Given the description of an element on the screen output the (x, y) to click on. 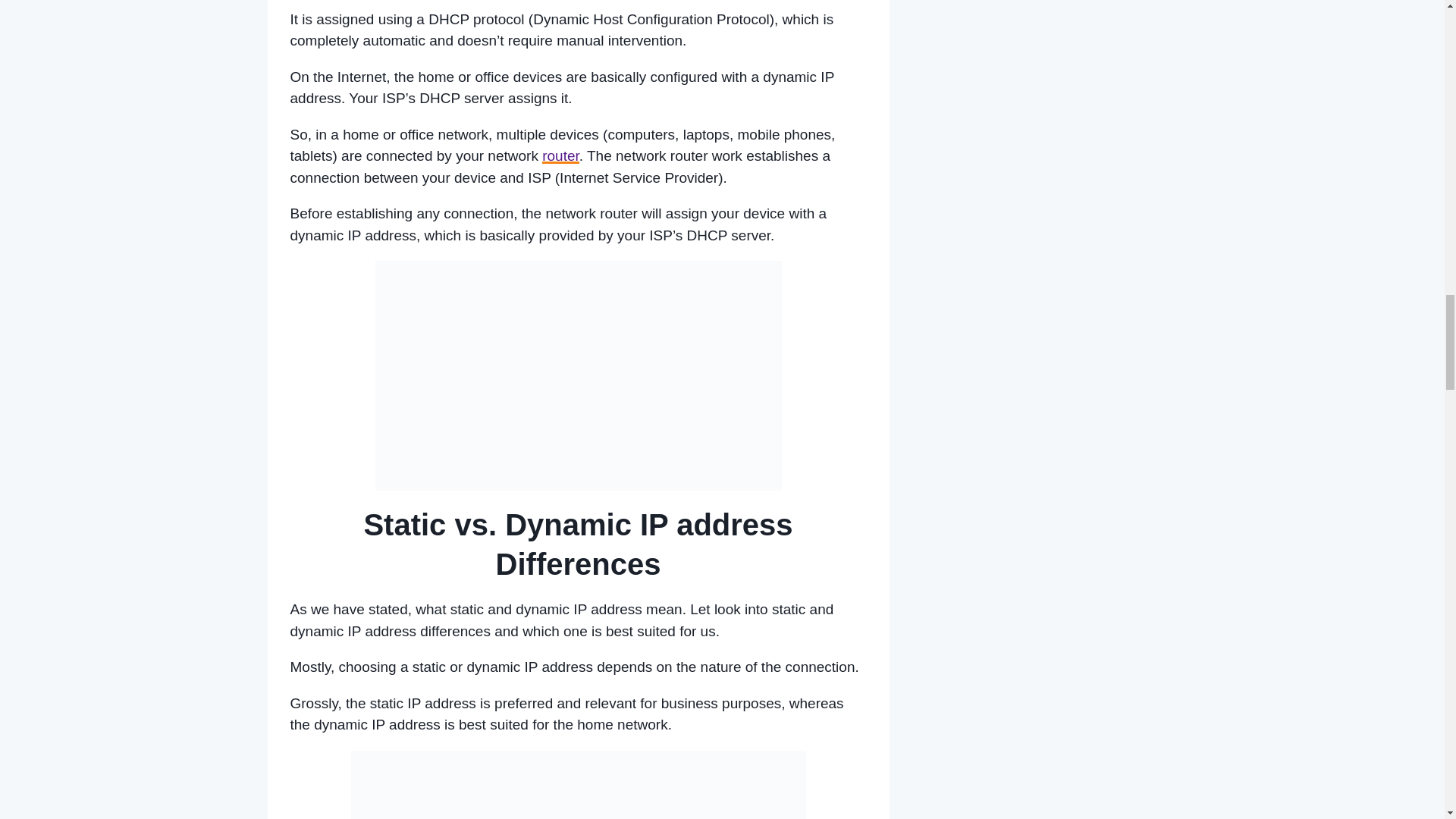
router (560, 155)
Dynamic IP address vs Static IP address (577, 785)
Dynamic IP address (577, 375)
